Given the description of an element on the screen output the (x, y) to click on. 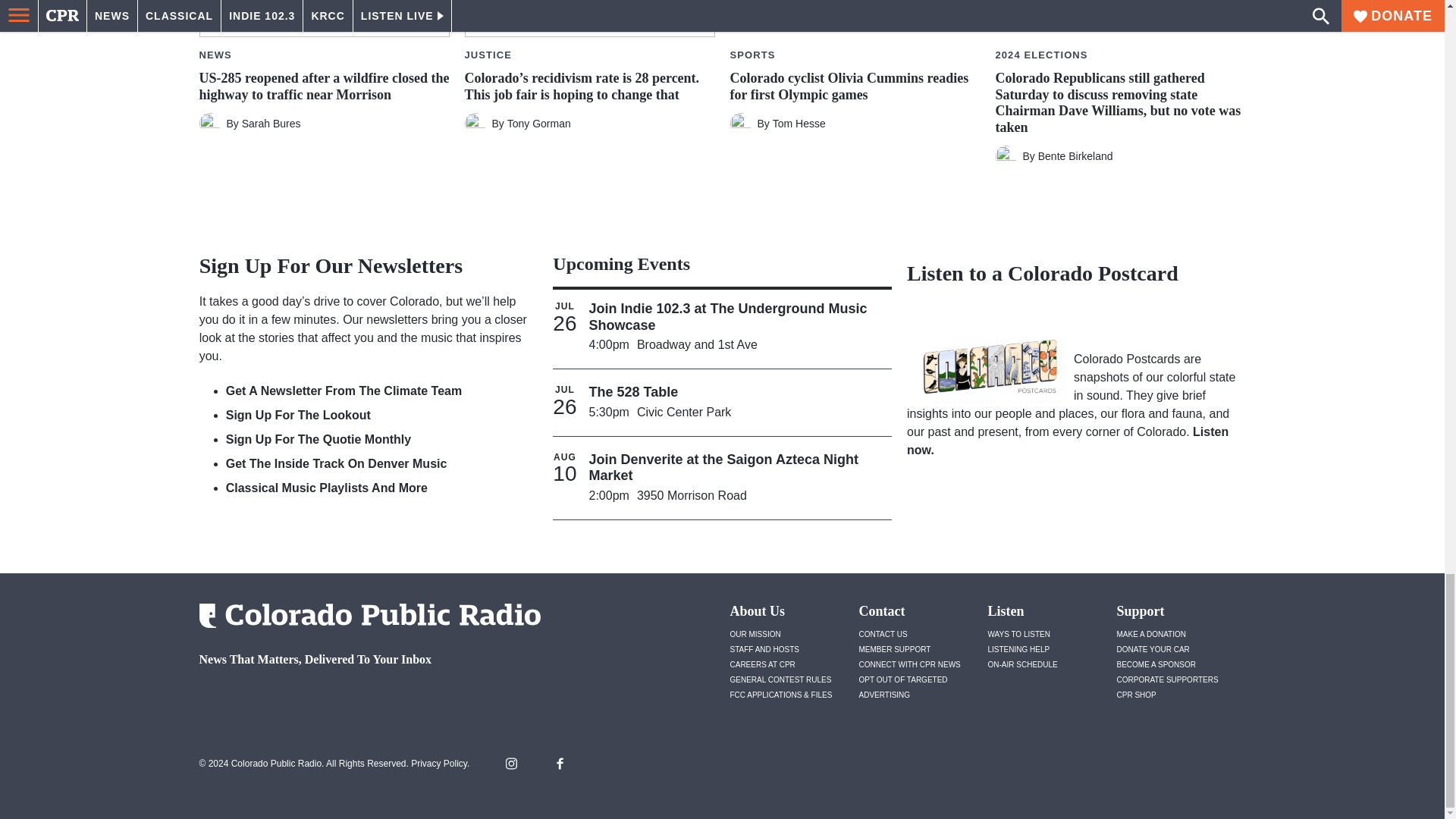
footer (364, 699)
